Given the description of an element on the screen output the (x, y) to click on. 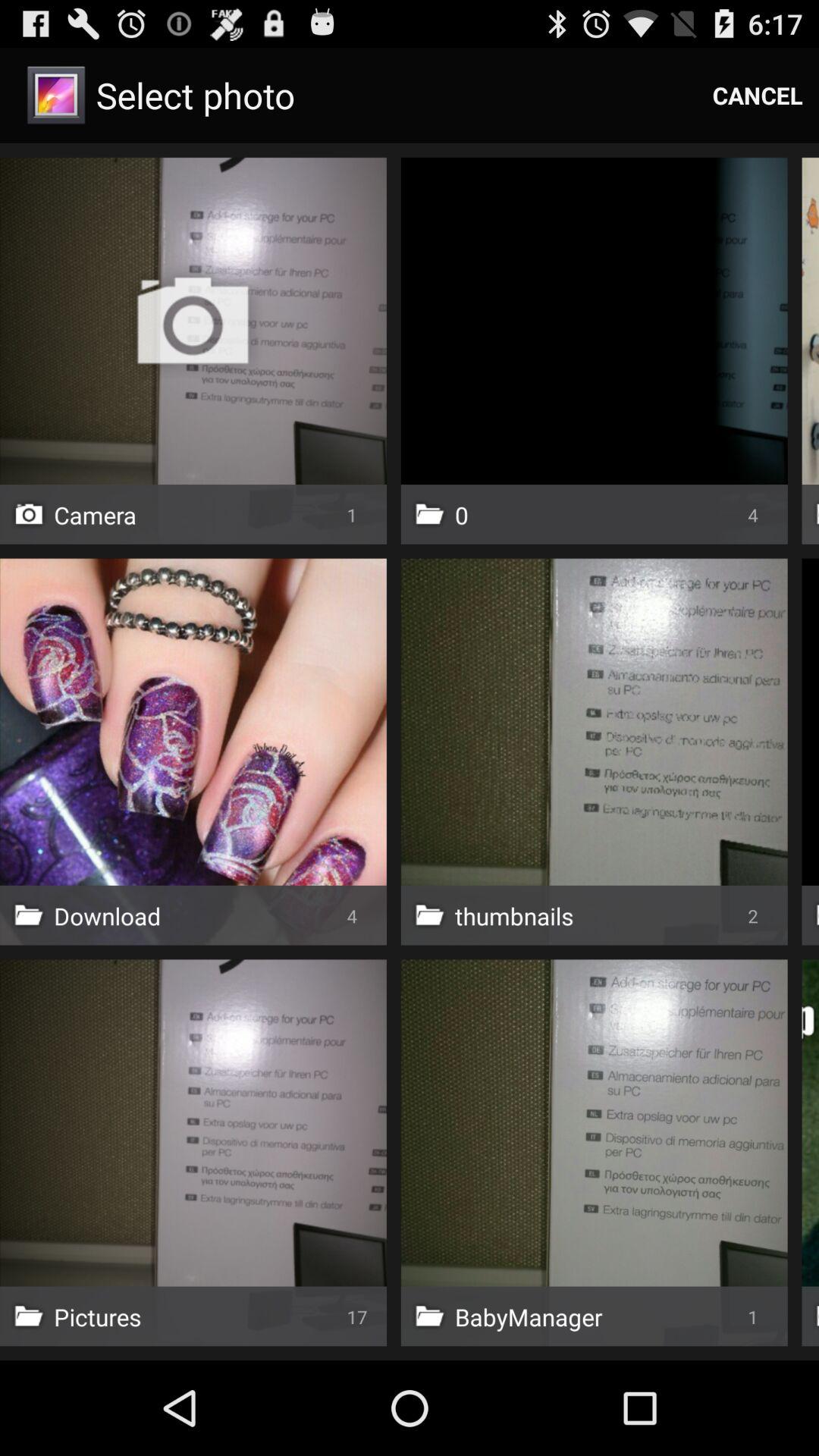
turn on item next to the select photo app (757, 95)
